Given the description of an element on the screen output the (x, y) to click on. 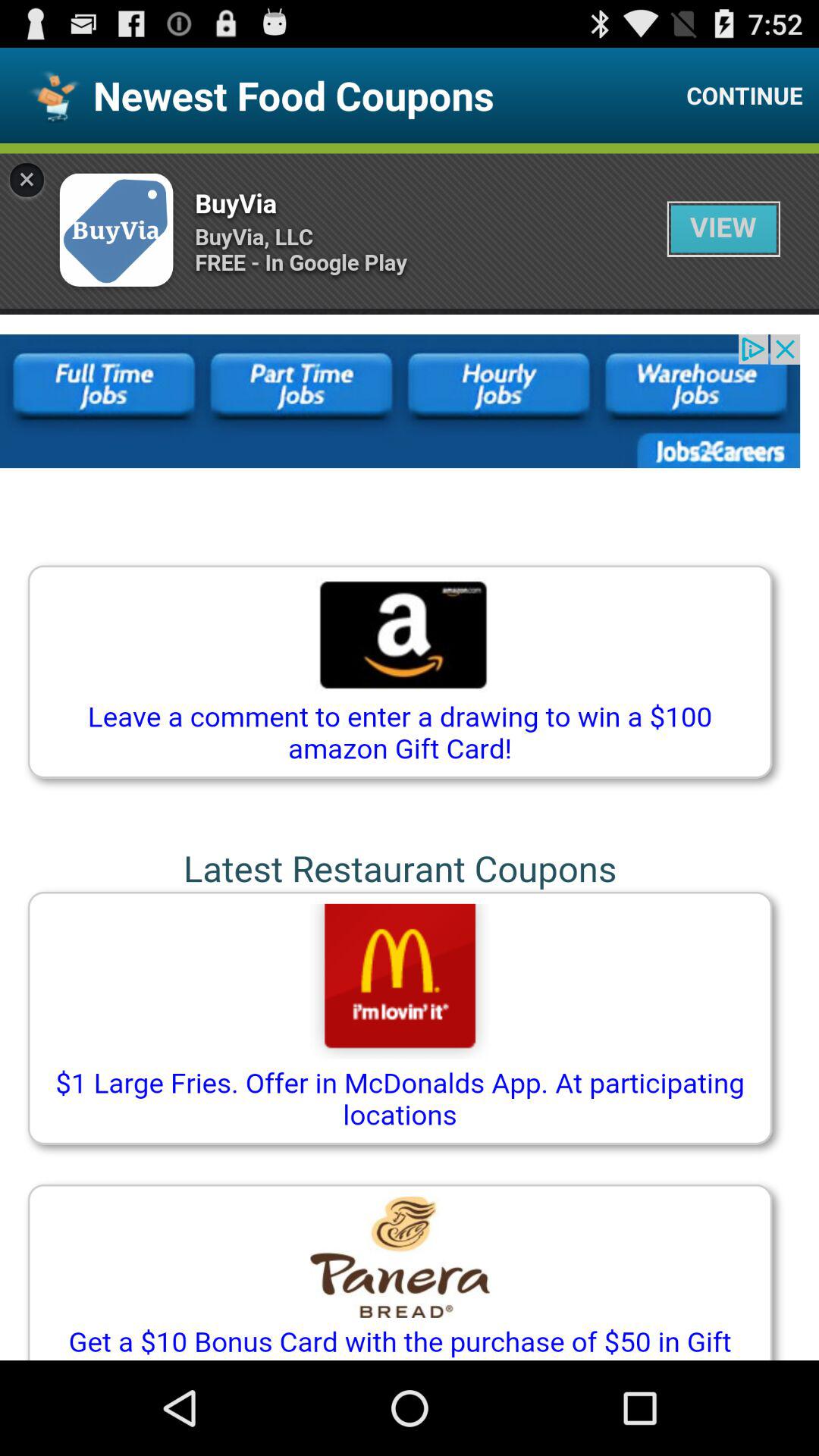
select from rewards and coupons (409, 751)
